Given the description of an element on the screen output the (x, y) to click on. 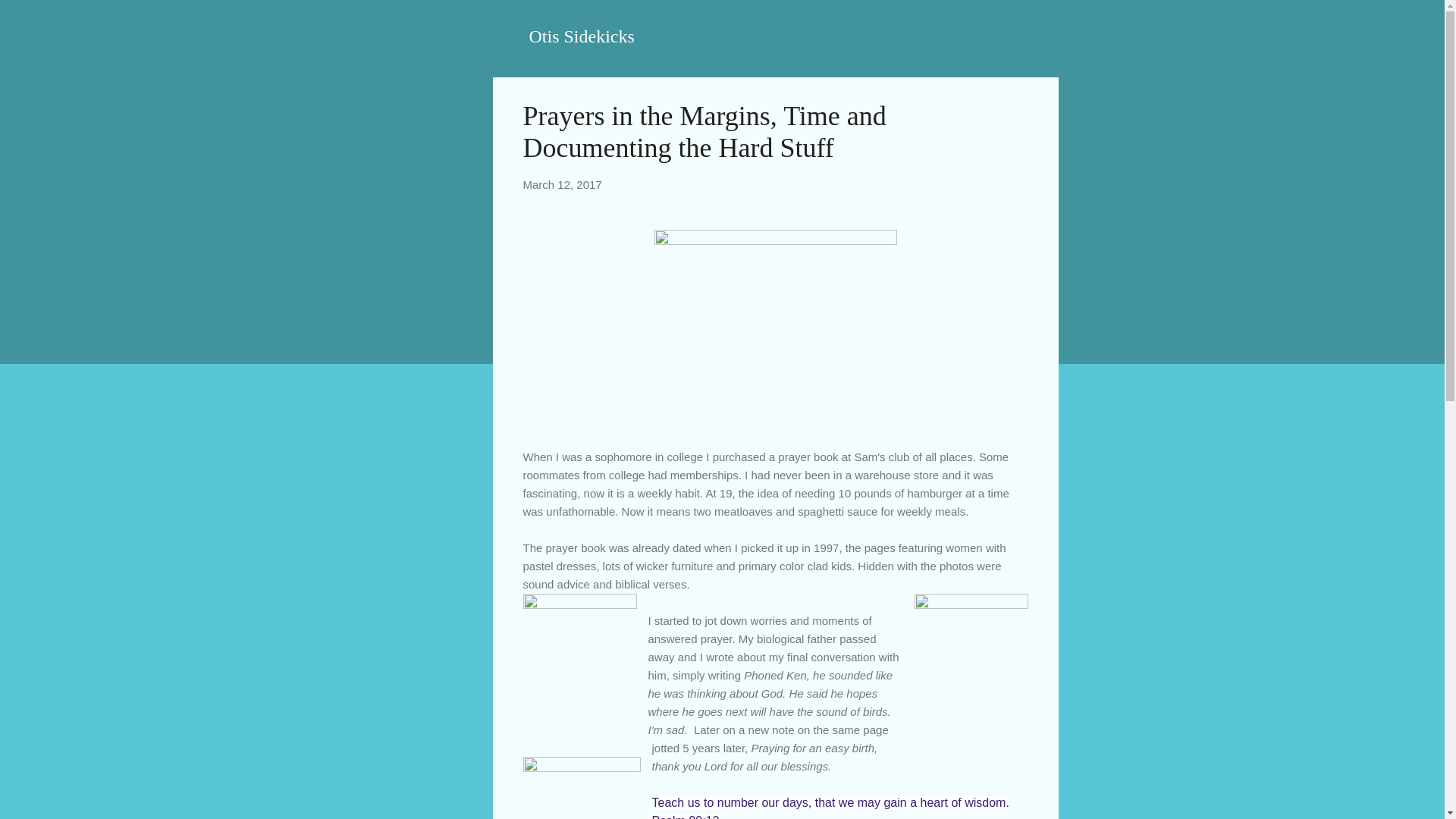
permanent link (562, 184)
March 12, 2017 (562, 184)
Search (29, 18)
Otis Sidekicks (581, 35)
